Given the description of an element on the screen output the (x, y) to click on. 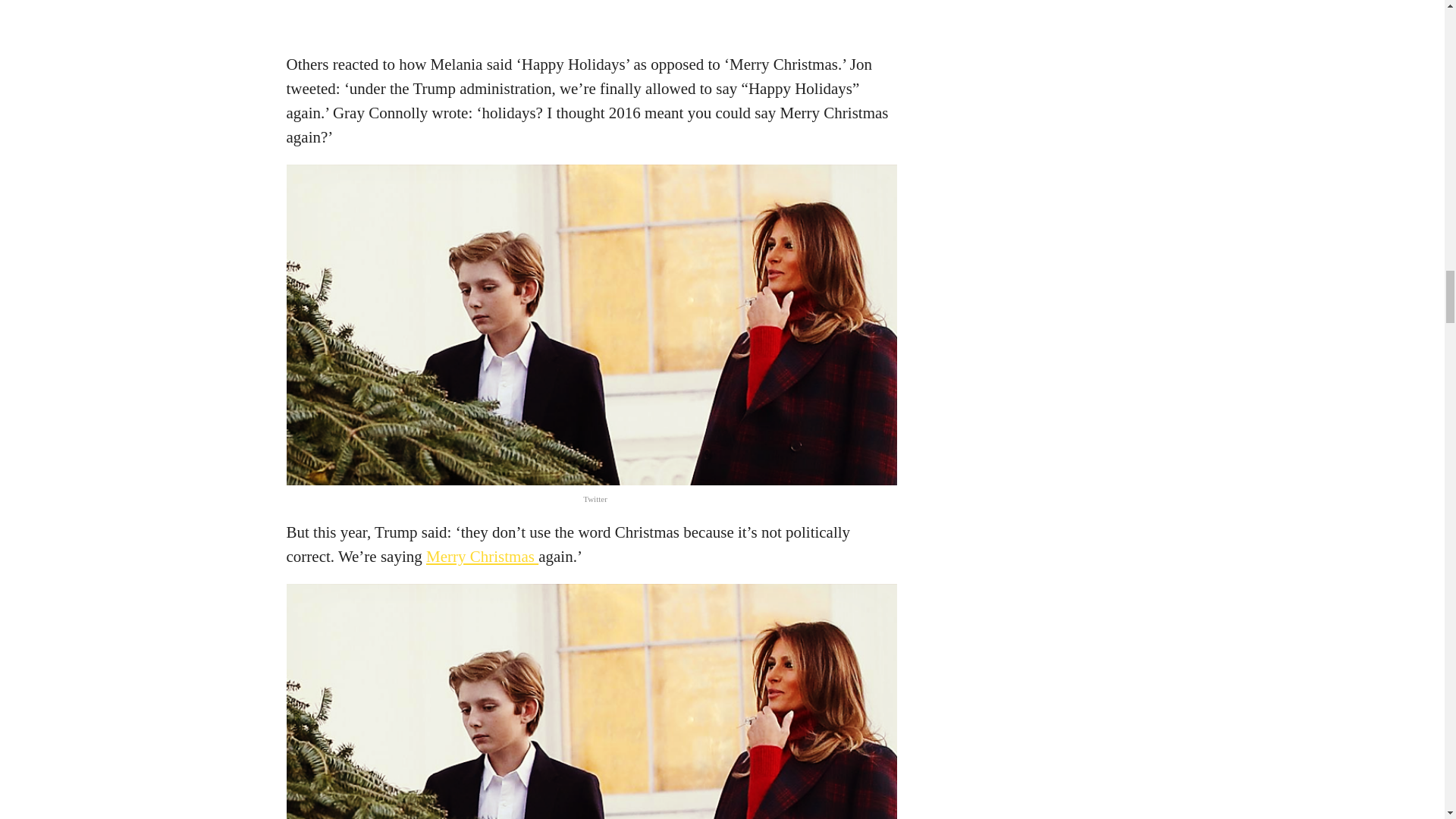
Merry Christmas (482, 556)
